Given the description of an element on the screen output the (x, y) to click on. 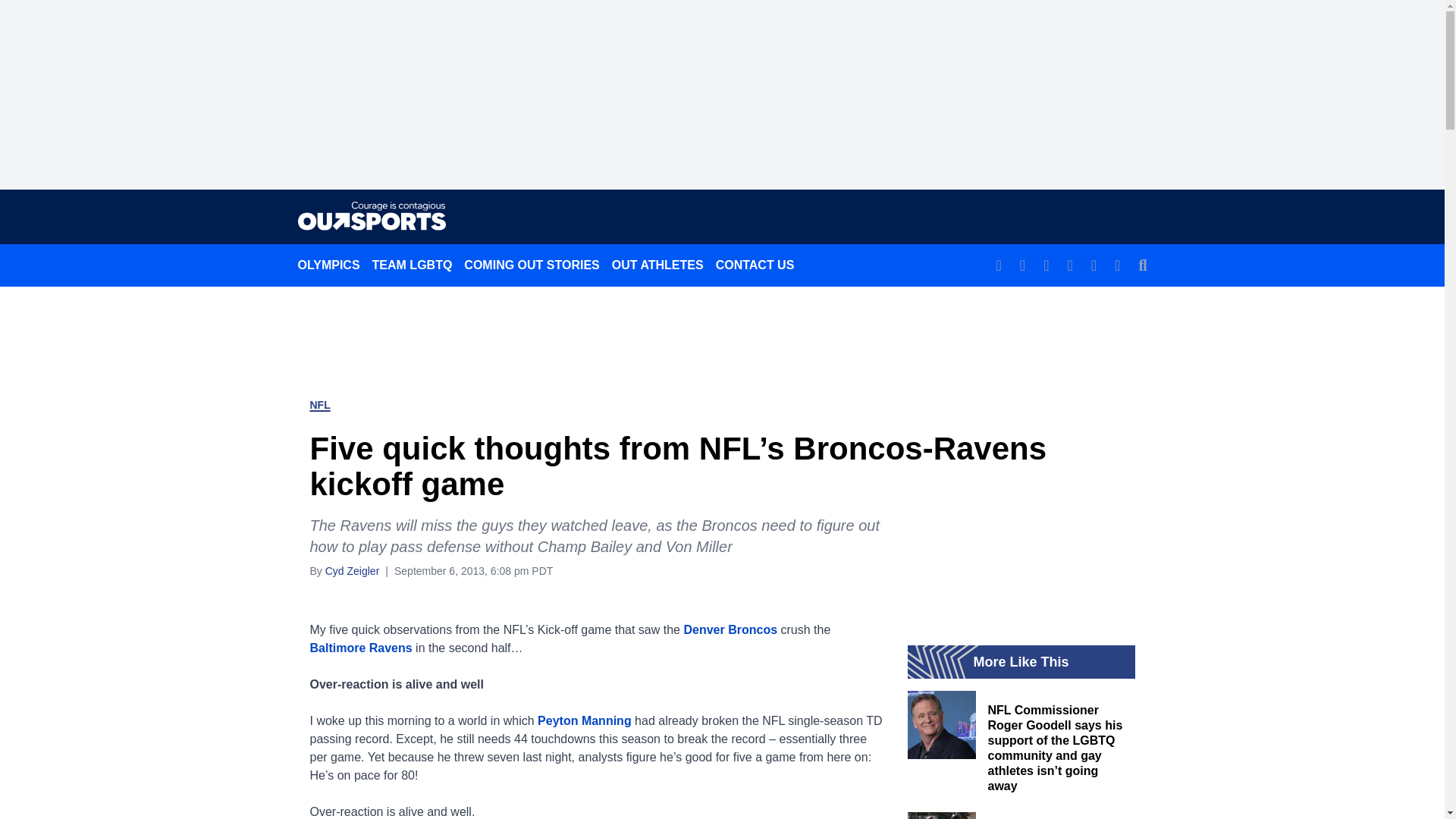
Denver Broncos (729, 629)
COMING OUT STORIES (531, 265)
Cyd Zeigler (352, 570)
Peyton Manning (584, 720)
TEAM LGBTQ (412, 265)
OUT ATHLETES (657, 265)
CONTACT US (755, 265)
NFL (319, 404)
Baltimore Ravens (360, 647)
OLYMPICS (328, 265)
